Given the description of an element on the screen output the (x, y) to click on. 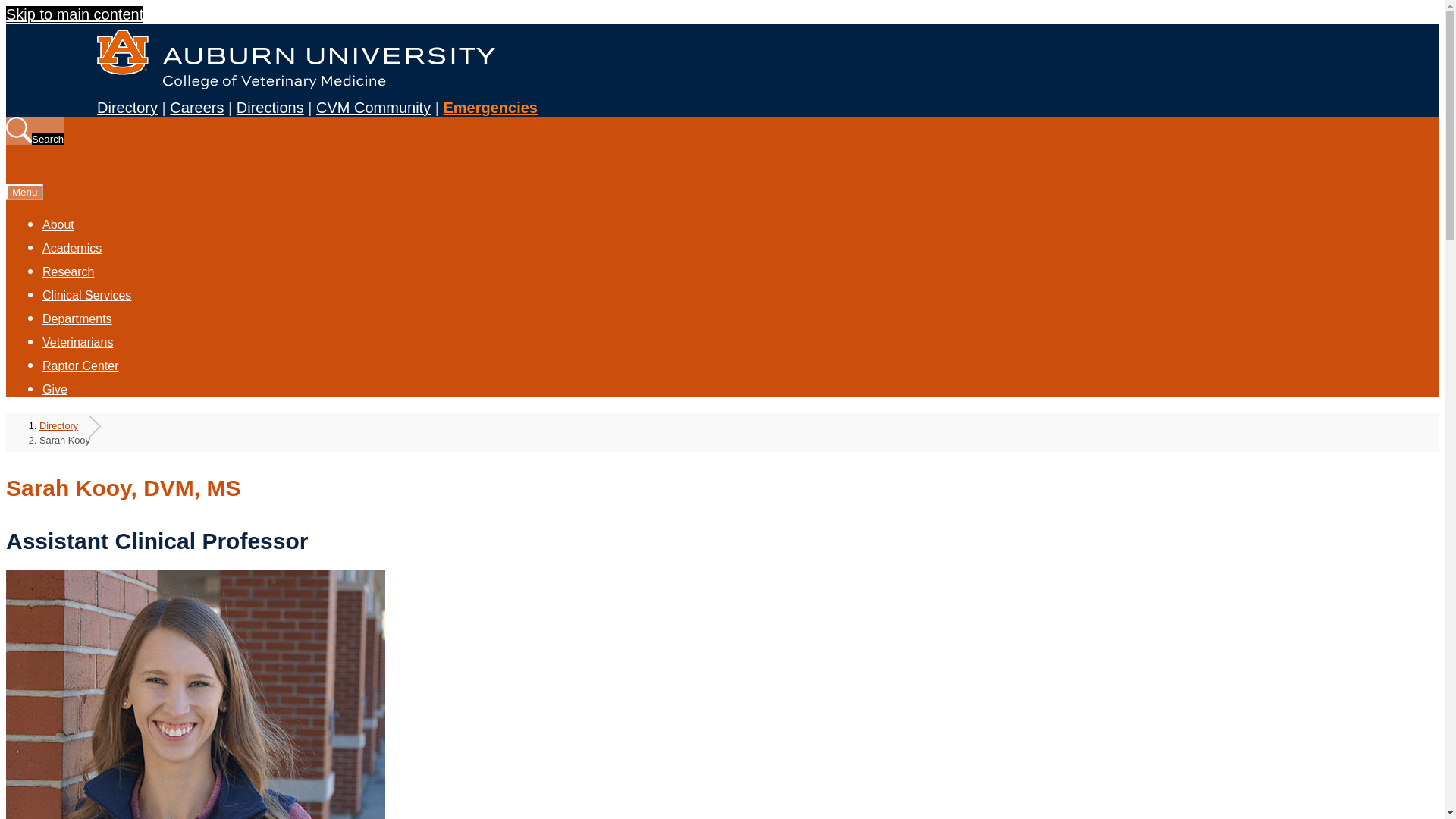
Directions (269, 107)
Menu (24, 191)
Raptor Center (80, 366)
Research (68, 272)
Skip to main content (73, 13)
Academics (71, 249)
CVM Community (372, 107)
Directory (127, 107)
Careers (197, 107)
Search (34, 130)
Emergencies (489, 107)
Directory (66, 425)
Clinical Services (86, 295)
About (58, 225)
Veterinarians (77, 342)
